Given the description of an element on the screen output the (x, y) to click on. 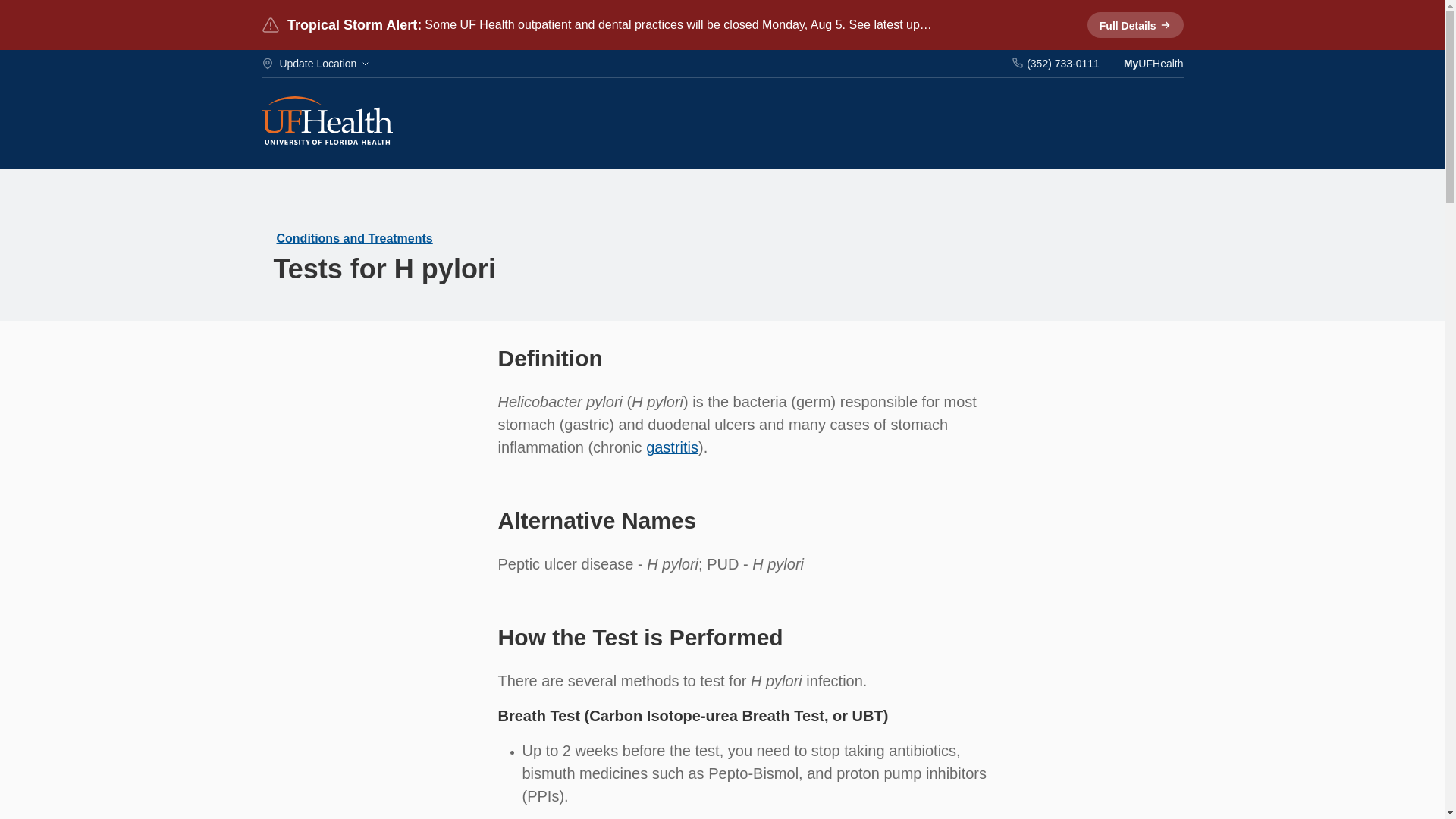
MyUFHealth (1153, 62)
UF Health Home (325, 122)
gastritis (672, 446)
Conditions and Treatments (354, 237)
Full Details (1135, 24)
